Given the description of an element on the screen output the (x, y) to click on. 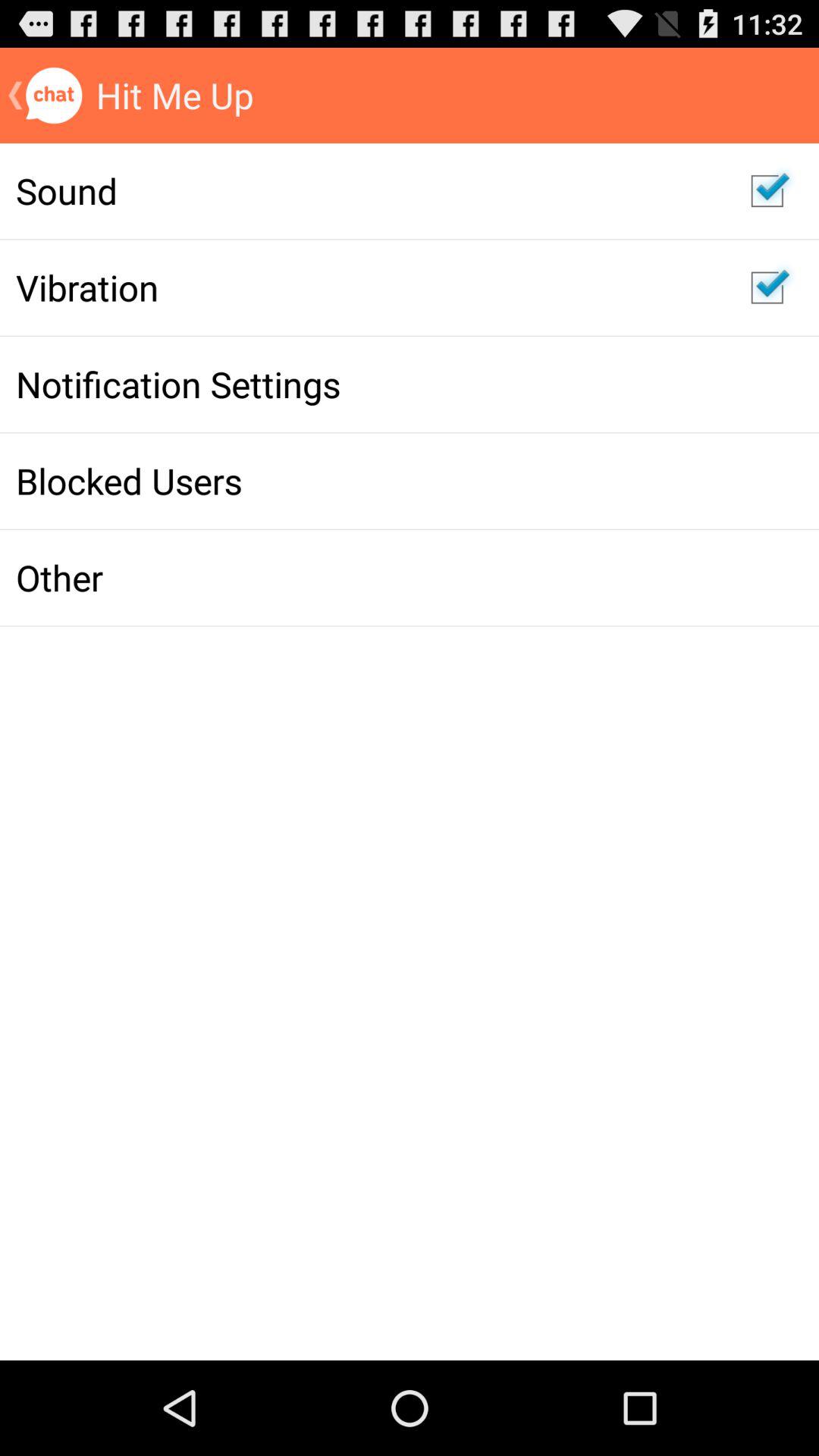
toggle vibration option (767, 287)
